Given the description of an element on the screen output the (x, y) to click on. 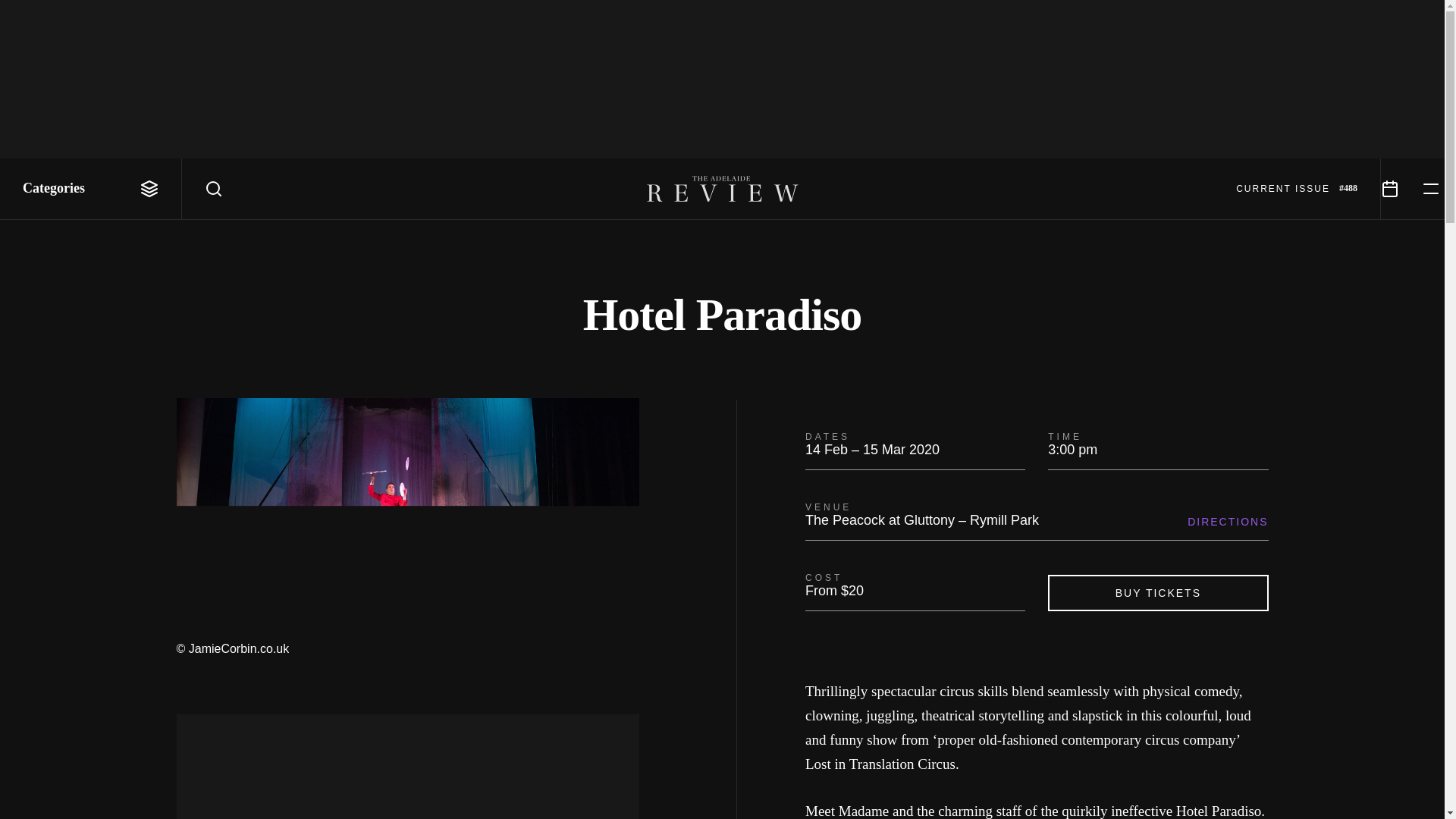
Categories (91, 188)
